Given the description of an element on the screen output the (x, y) to click on. 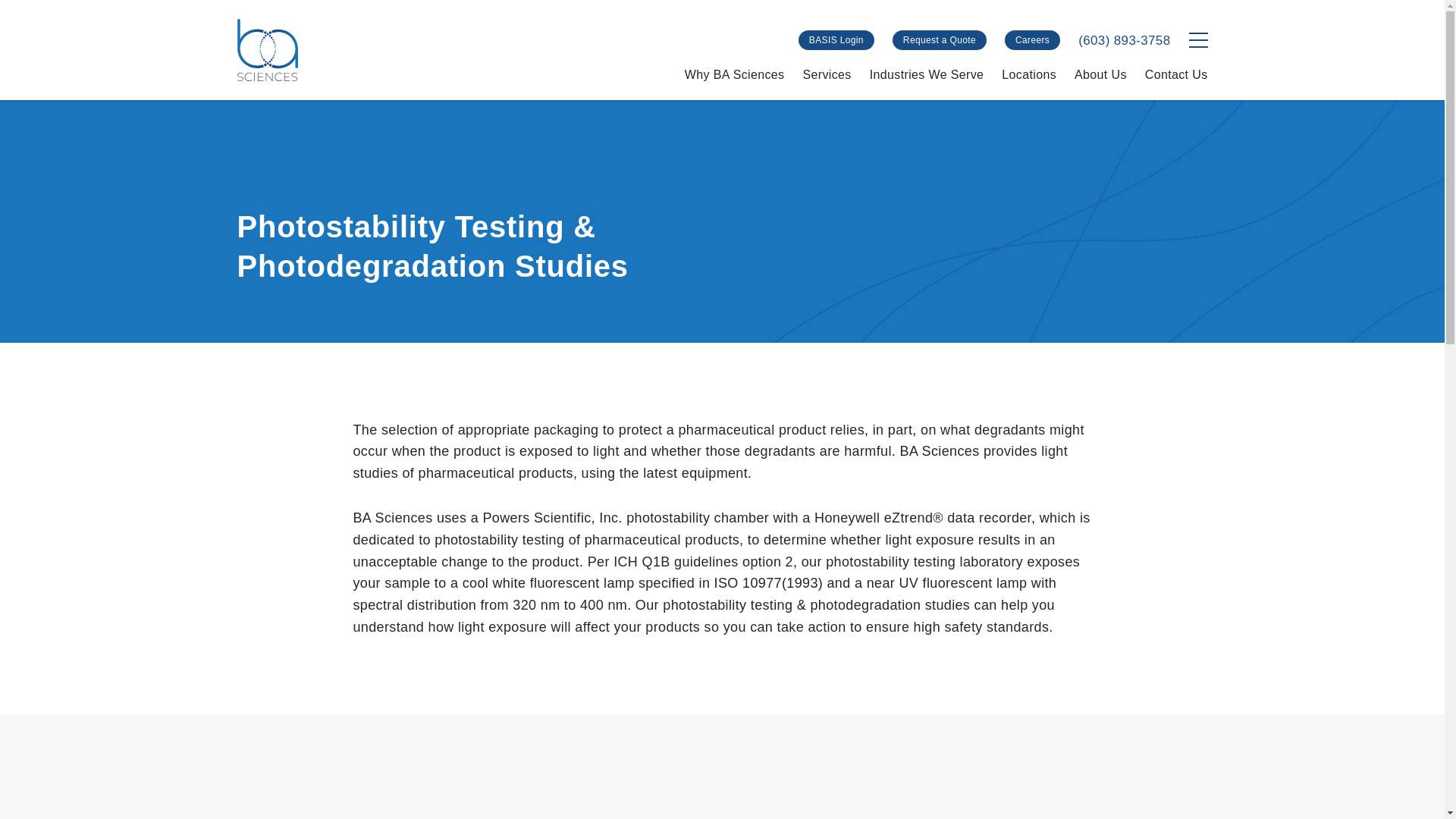
BA Sciences (266, 49)
Open Main Menu (1198, 39)
